Given the description of an element on the screen output the (x, y) to click on. 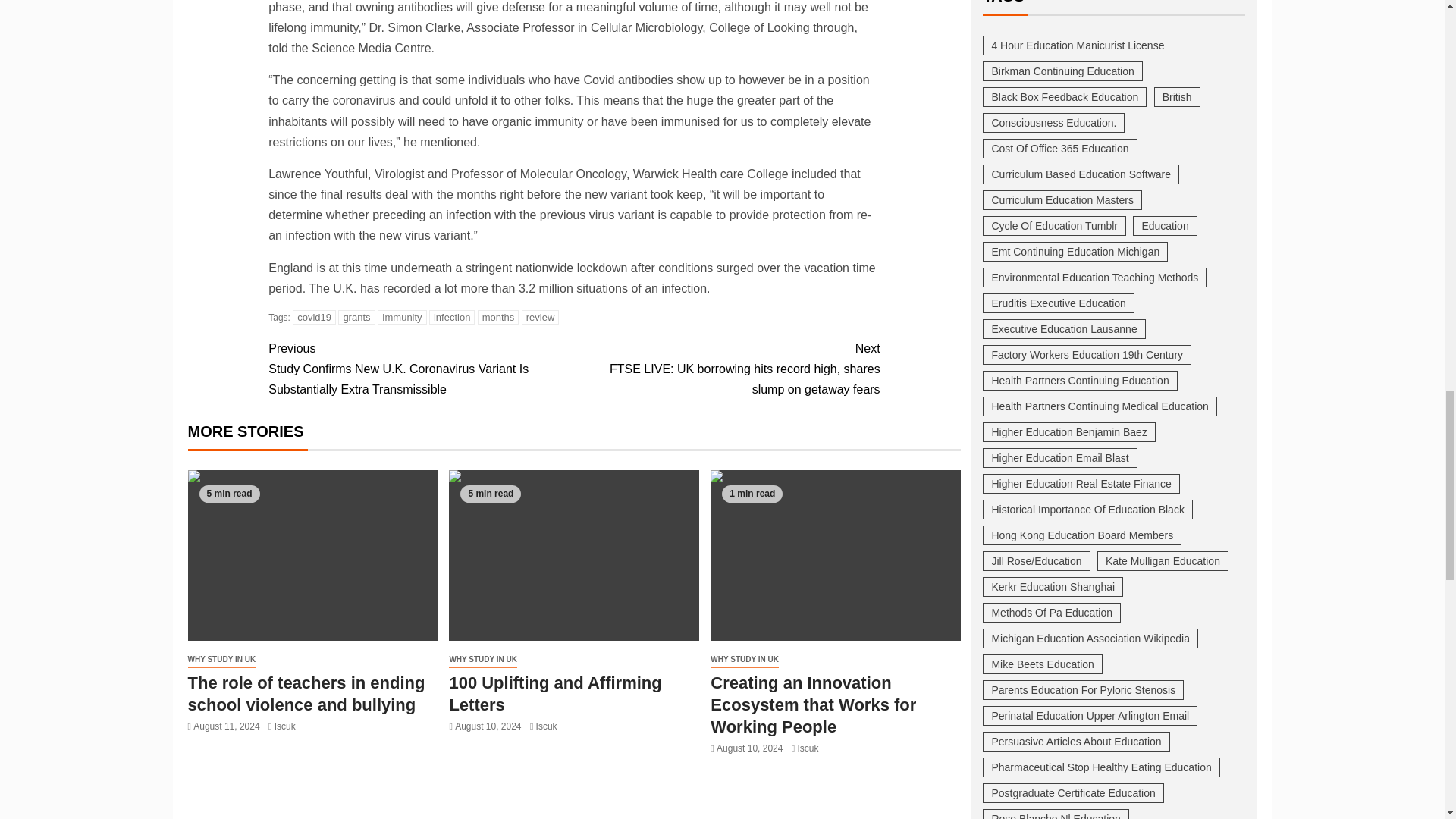
review (540, 317)
WHY STUDY IN UK (221, 659)
The role of teachers in ending school violence and bullying (312, 555)
Immunity (401, 317)
grants (355, 317)
infection (451, 317)
100 Uplifting and Affirming Letters (573, 555)
